Given the description of an element on the screen output the (x, y) to click on. 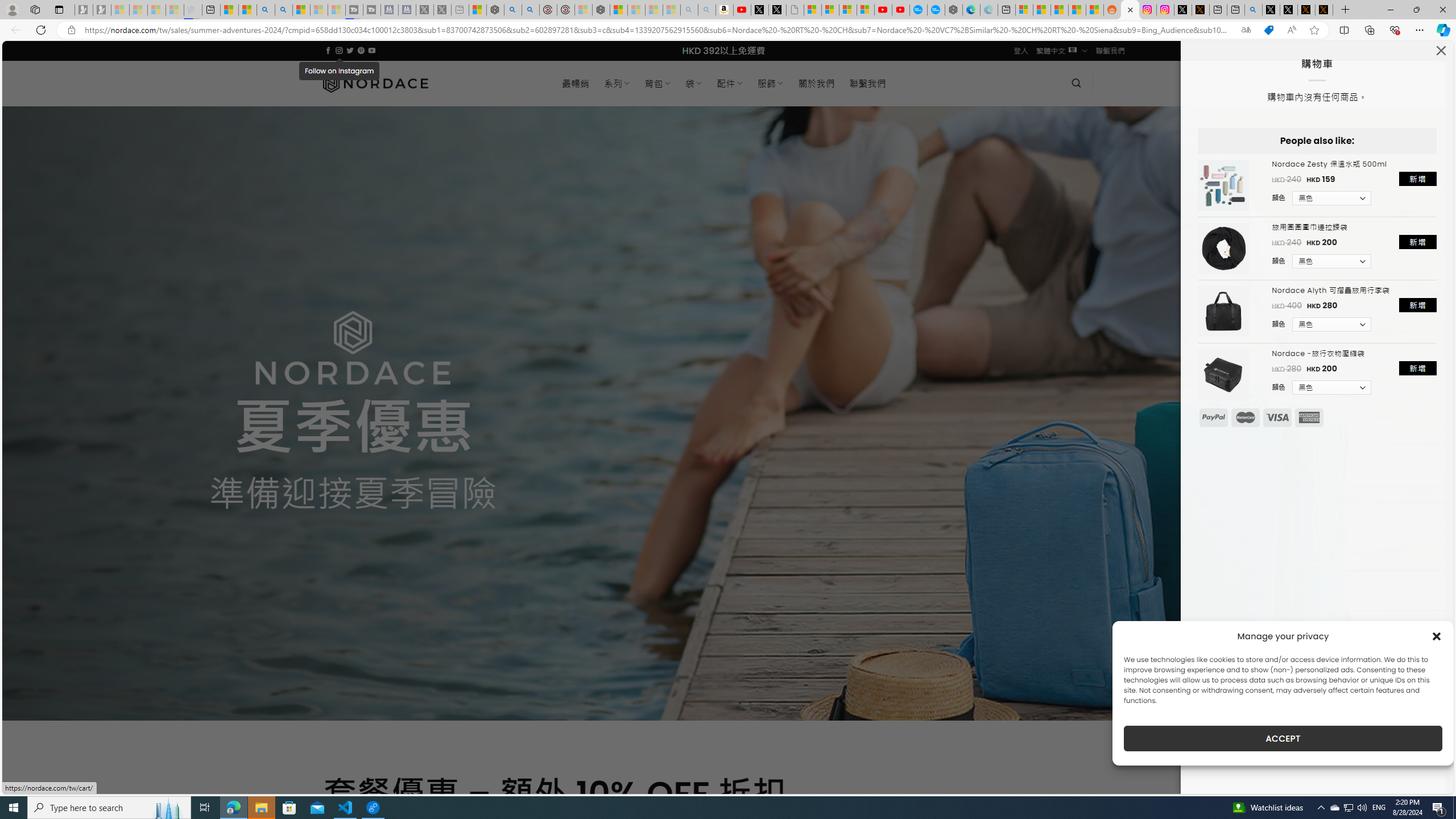
Untitled (794, 9)
Newsletter Sign Up - Sleeping (102, 9)
